Given the description of an element on the screen output the (x, y) to click on. 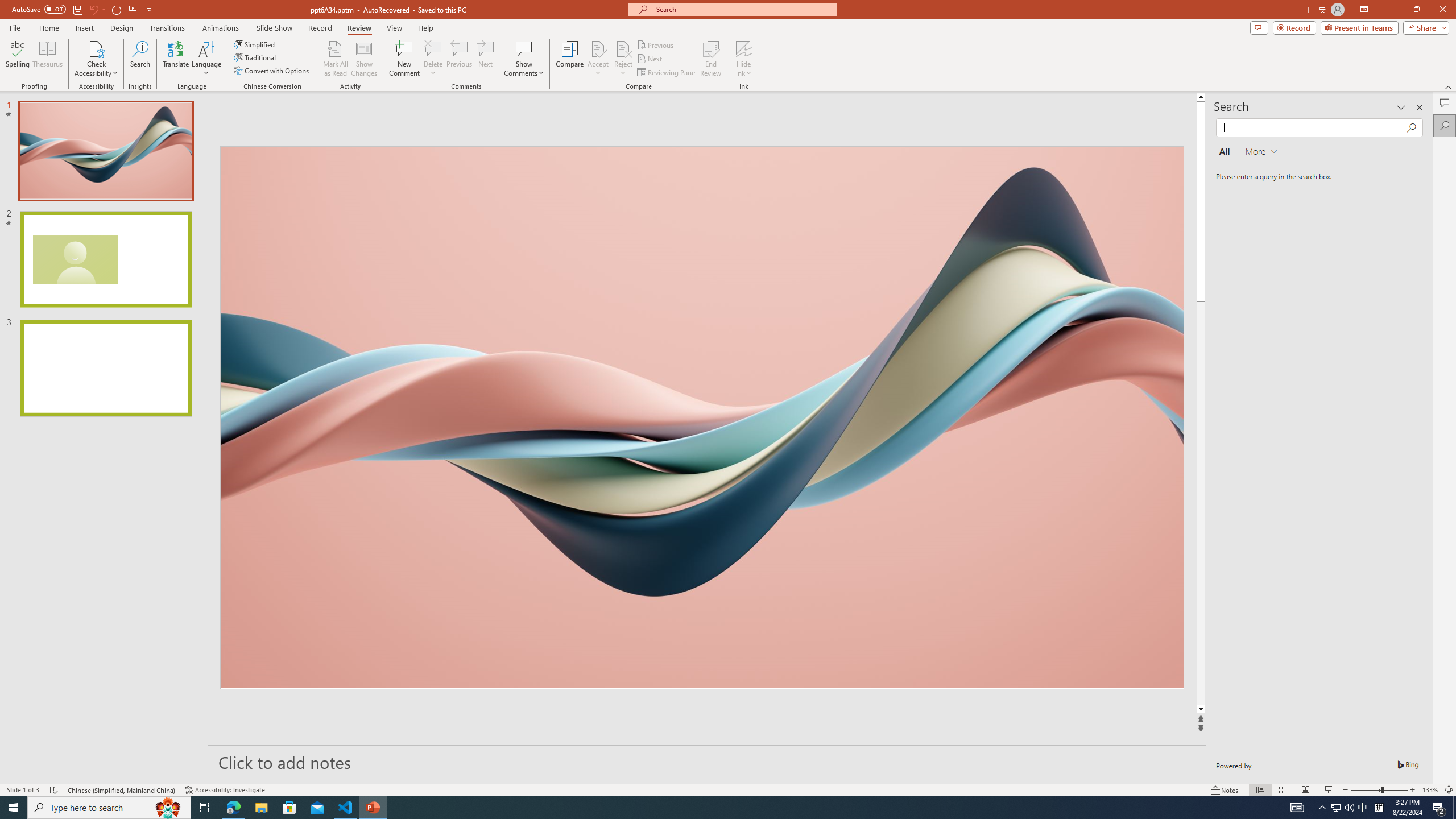
Convert with Options... (272, 69)
Reviewing Pane (666, 72)
Simplified (254, 44)
